Given the description of an element on the screen output the (x, y) to click on. 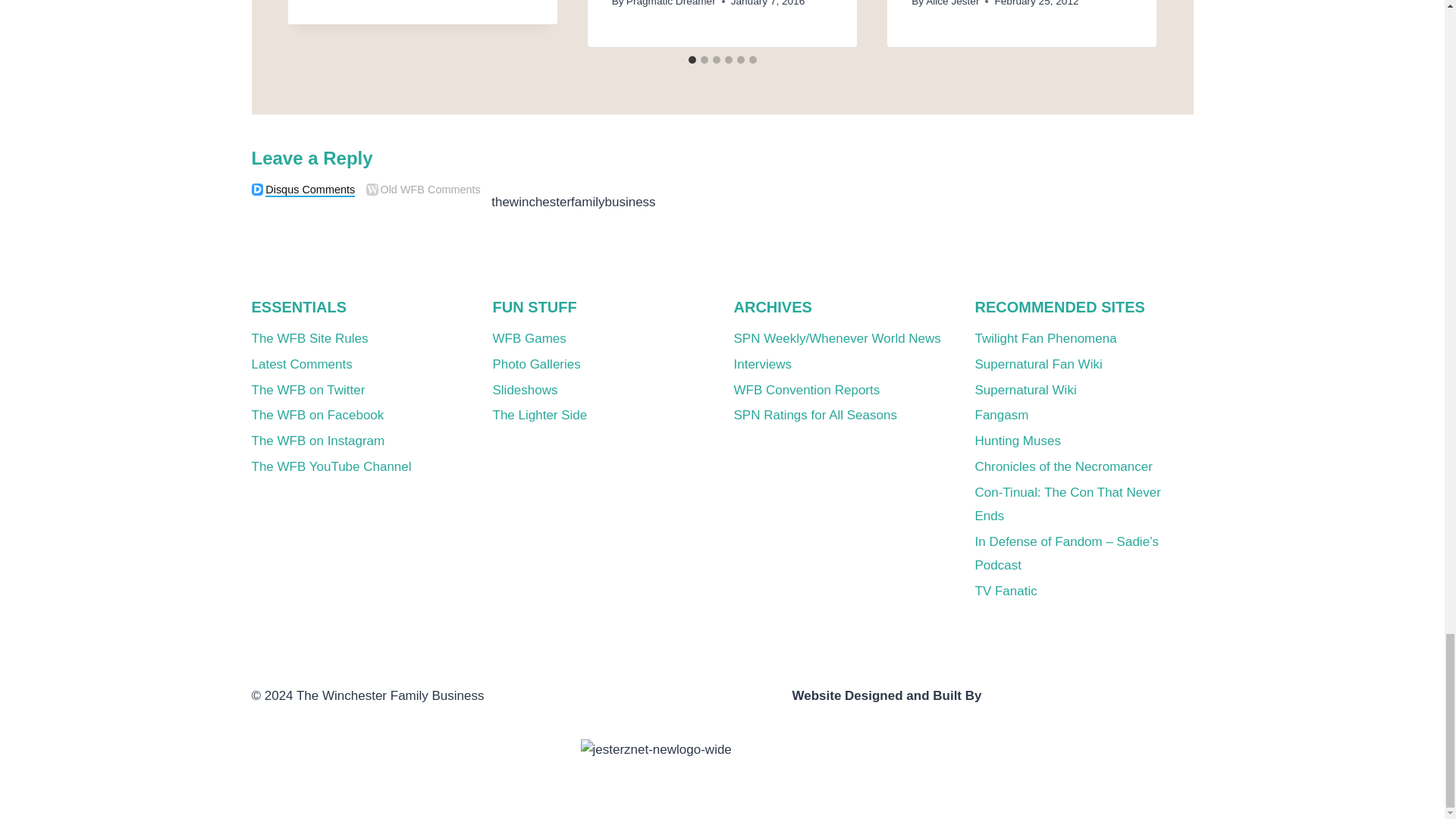
Old WFB Comments (372, 189)
Disqus Comments (257, 189)
